Given the description of an element on the screen output the (x, y) to click on. 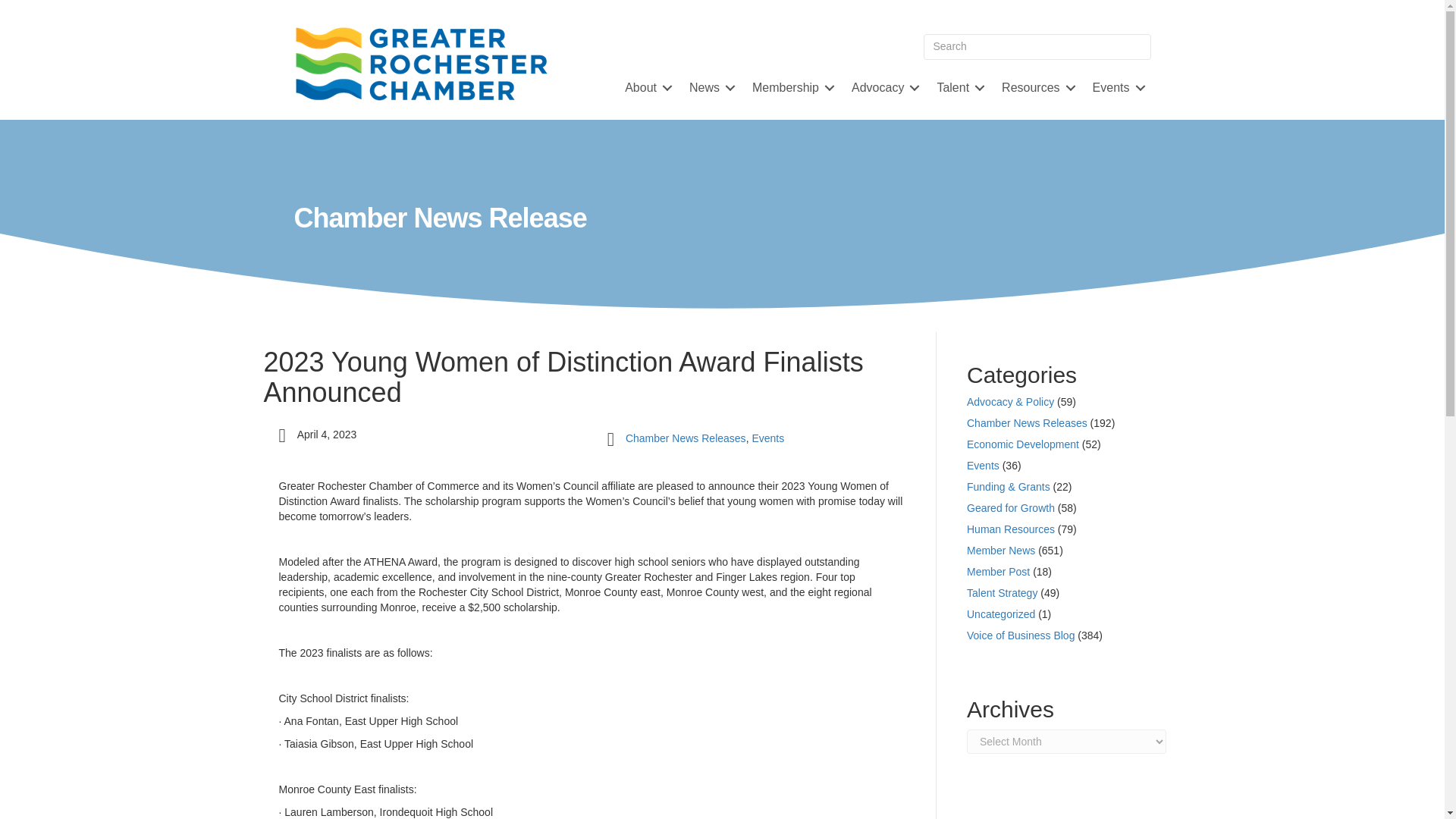
Advocacy (882, 87)
About (646, 87)
Membership (790, 87)
News (709, 87)
Talent (958, 87)
